Given the description of an element on the screen output the (x, y) to click on. 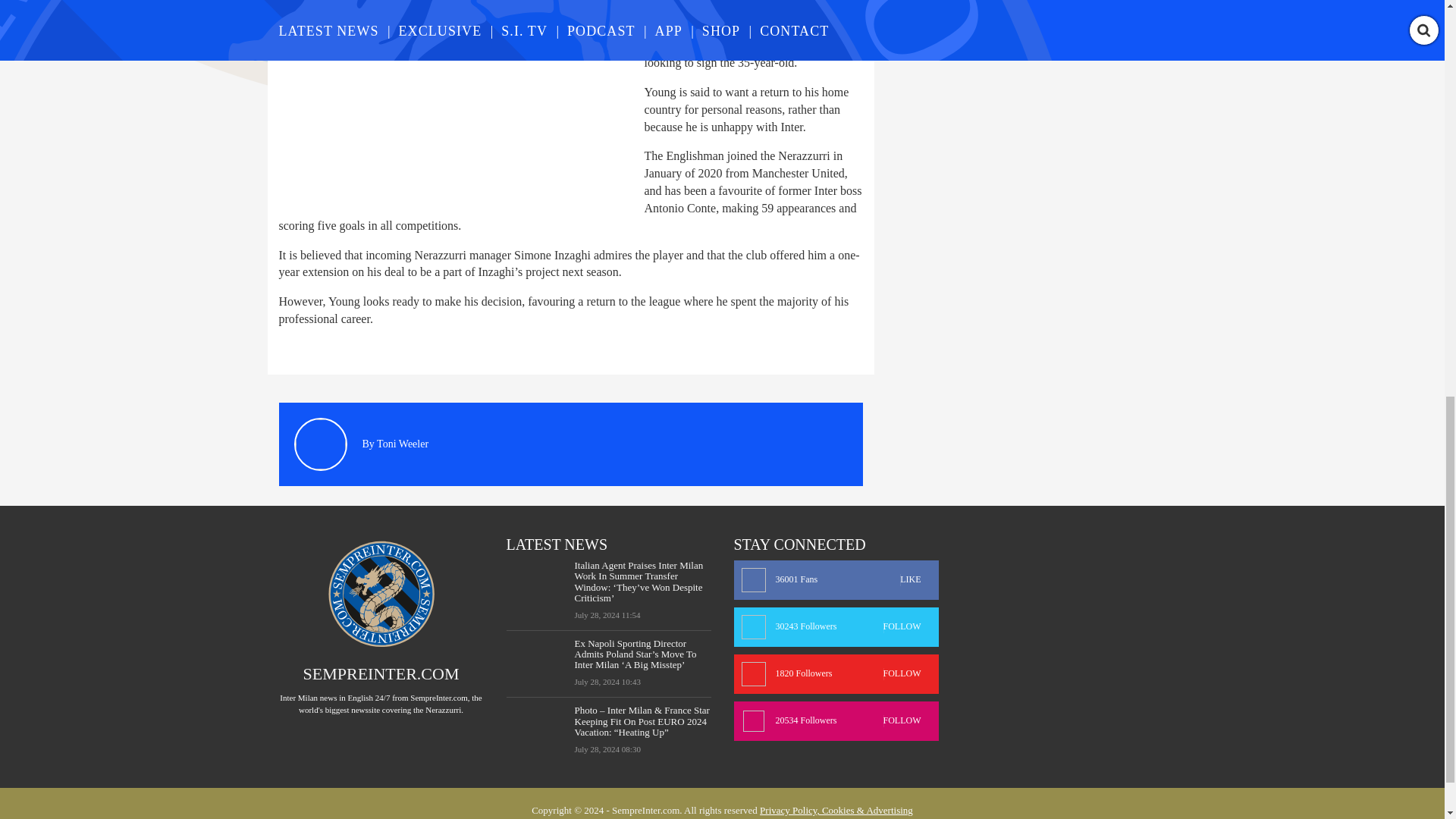
Toni Weeler (402, 443)
SEMPREINTER.COM (381, 673)
View more articles by Toni Weeler (402, 443)
